Given the description of an element on the screen output the (x, y) to click on. 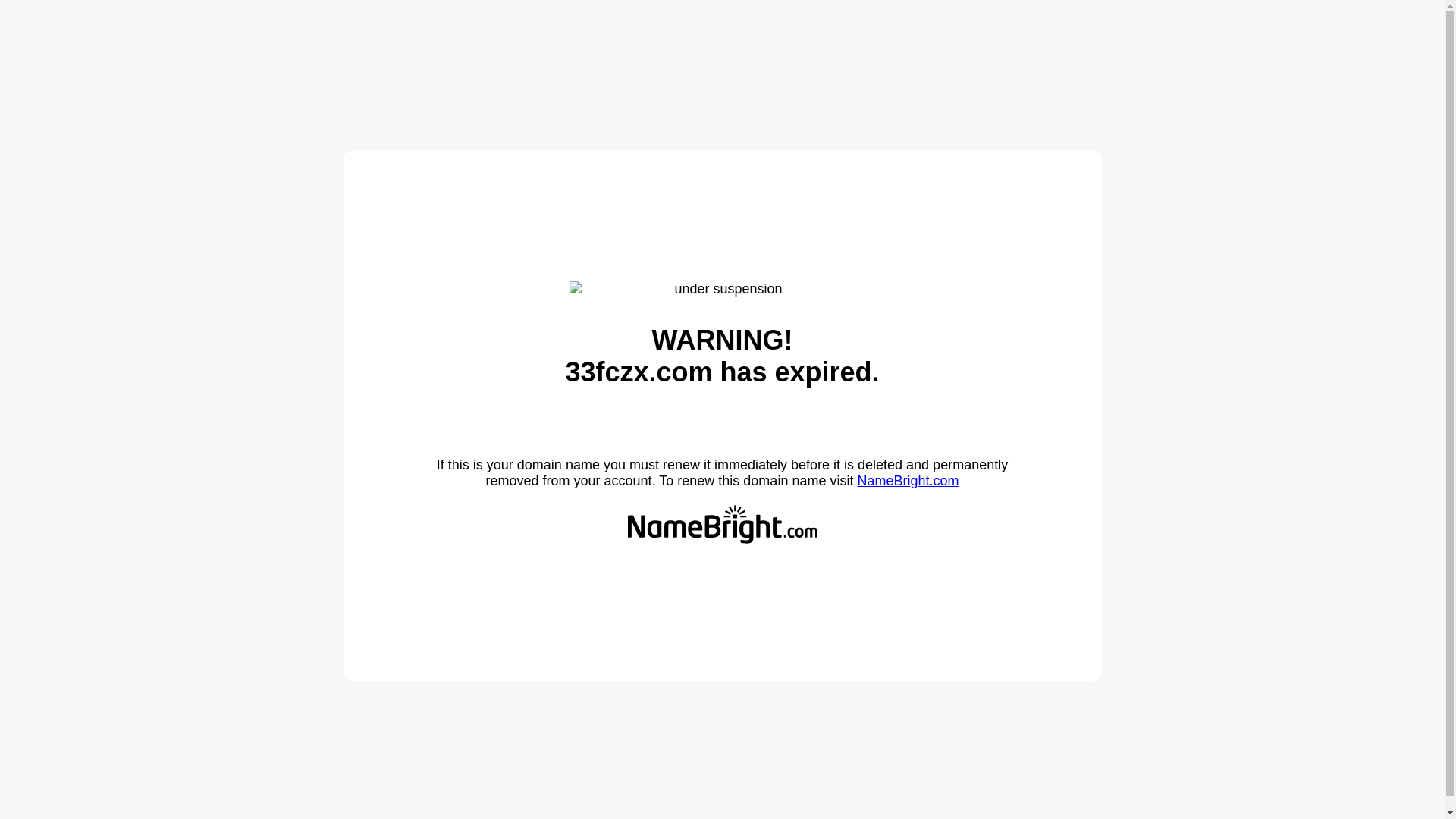
NameBright.com Element type: text (907, 480)
